Given the description of an element on the screen output the (x, y) to click on. 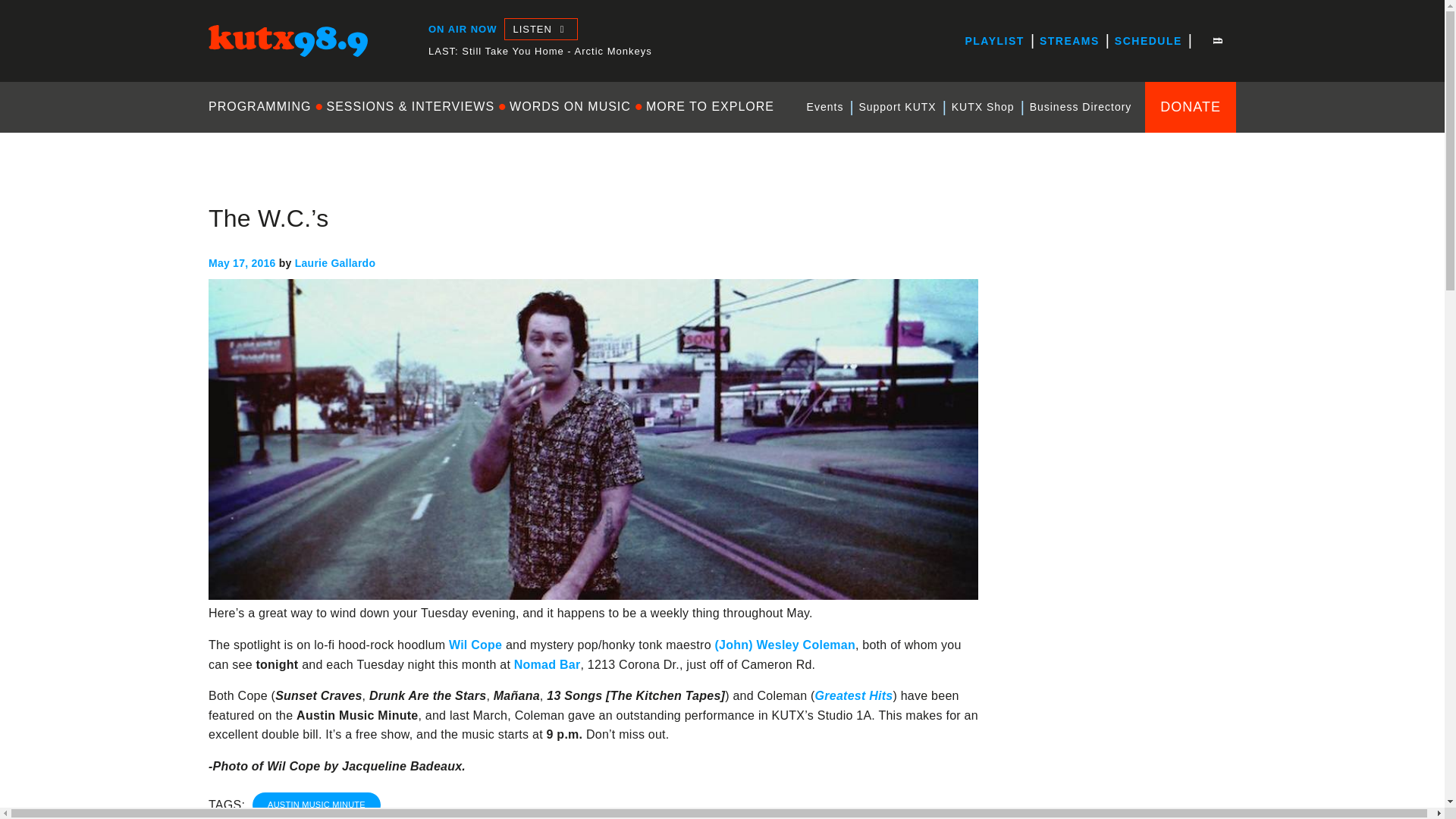
PROGRAMMING (263, 106)
STREAMS (1069, 40)
DONATE (1190, 106)
Events (825, 106)
WORDS ON MUSIC (570, 106)
MORE TO EXPLORE (710, 106)
3rd party ad content (1122, 701)
3rd party ad content (1122, 497)
LISTEN (539, 29)
KUTX Shop (982, 106)
3rd party ad content (1122, 292)
KUTX (224, 69)
Support KUTX (896, 106)
Business Directory (1081, 106)
SCHEDULE (1147, 40)
